Given the description of an element on the screen output the (x, y) to click on. 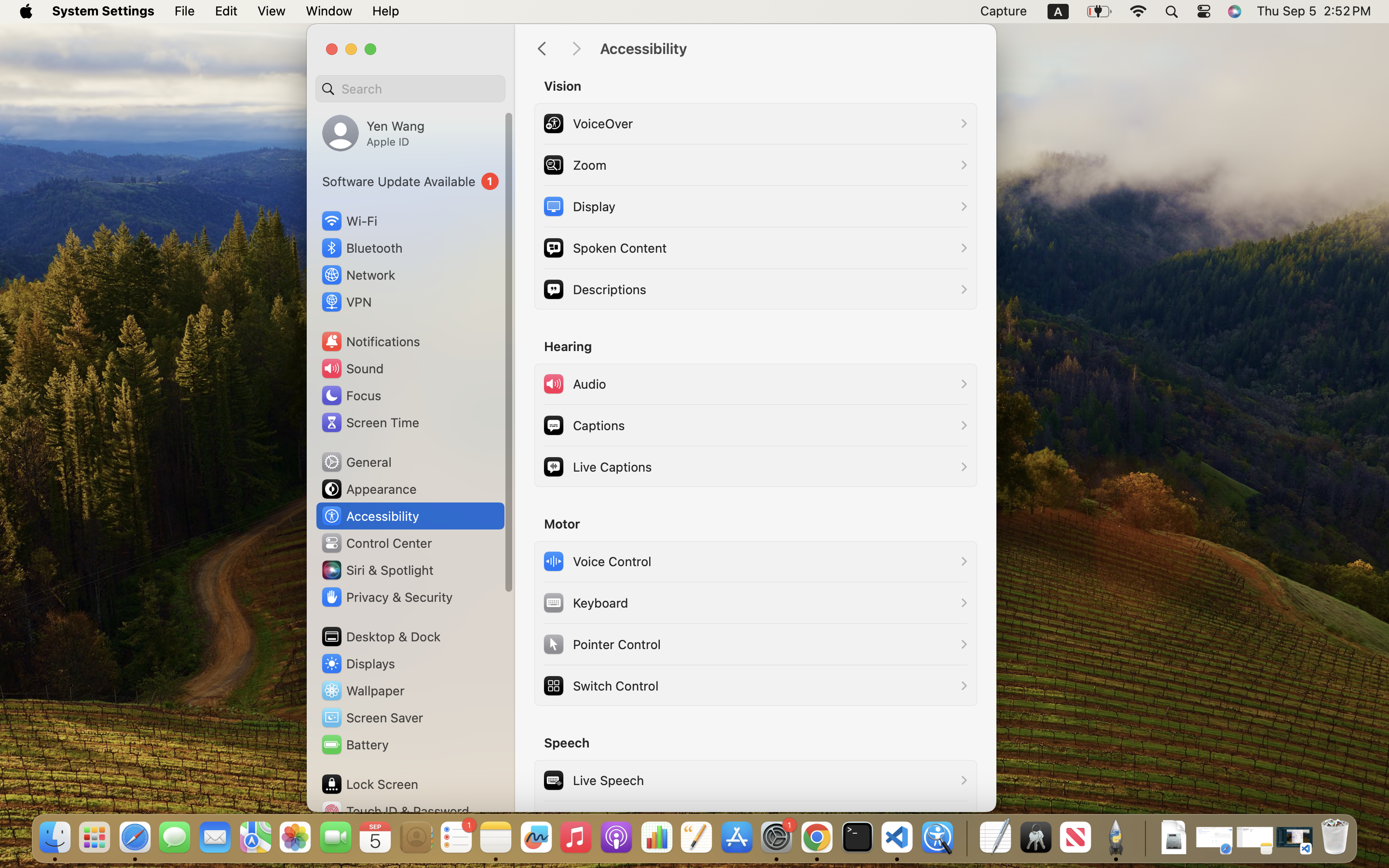
Bluetooth Element type: AXStaticText (361, 247)
Displays Element type: AXStaticText (357, 663)
1 Element type: AXStaticText (410, 180)
Screen Saver Element type: AXStaticText (371, 717)
Privacy & Security Element type: AXStaticText (386, 596)
